Given the description of an element on the screen output the (x, y) to click on. 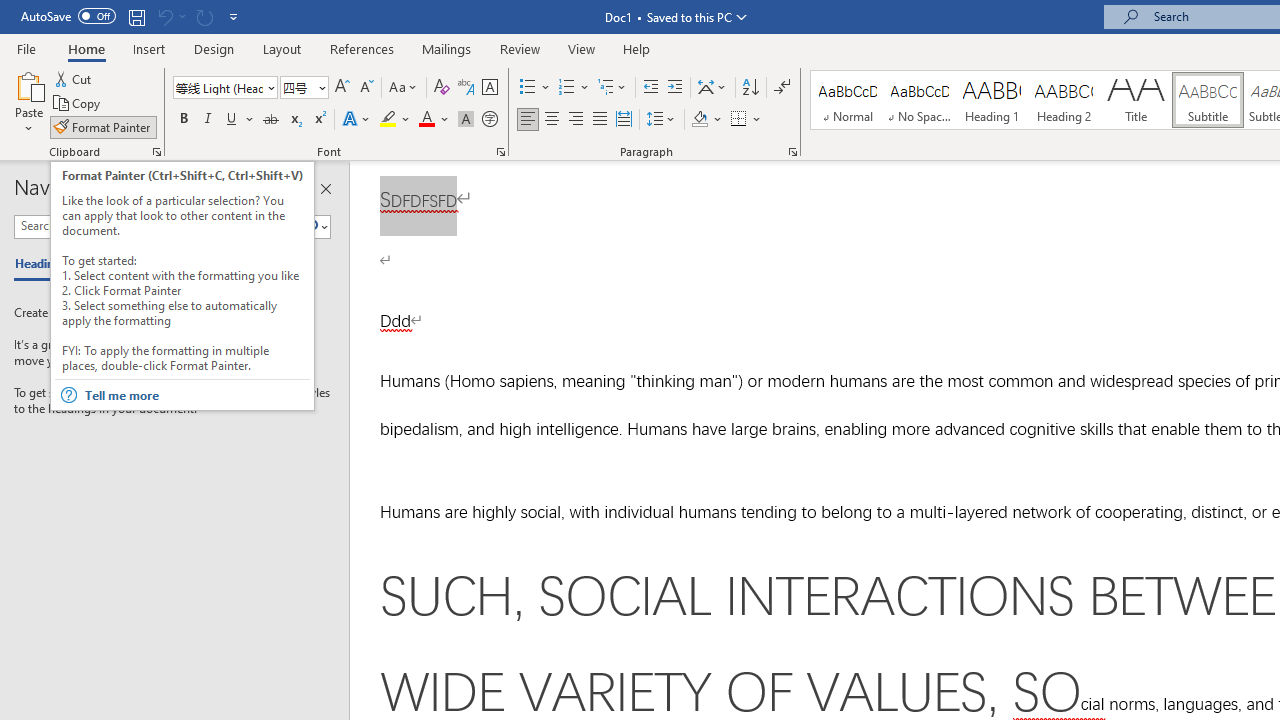
Subtitle (1208, 100)
Increase Indent (675, 87)
Class: NetUIImage (311, 226)
Heading 2 (1063, 100)
Paste (28, 84)
Sort... (750, 87)
Change Case (404, 87)
Numbering (566, 87)
Pages (105, 264)
Office Clipboard... (156, 151)
Shading RGB(0, 0, 0) (699, 119)
Copy (78, 103)
Distributed (623, 119)
Borders (746, 119)
Shading (706, 119)
